Given the description of an element on the screen output the (x, y) to click on. 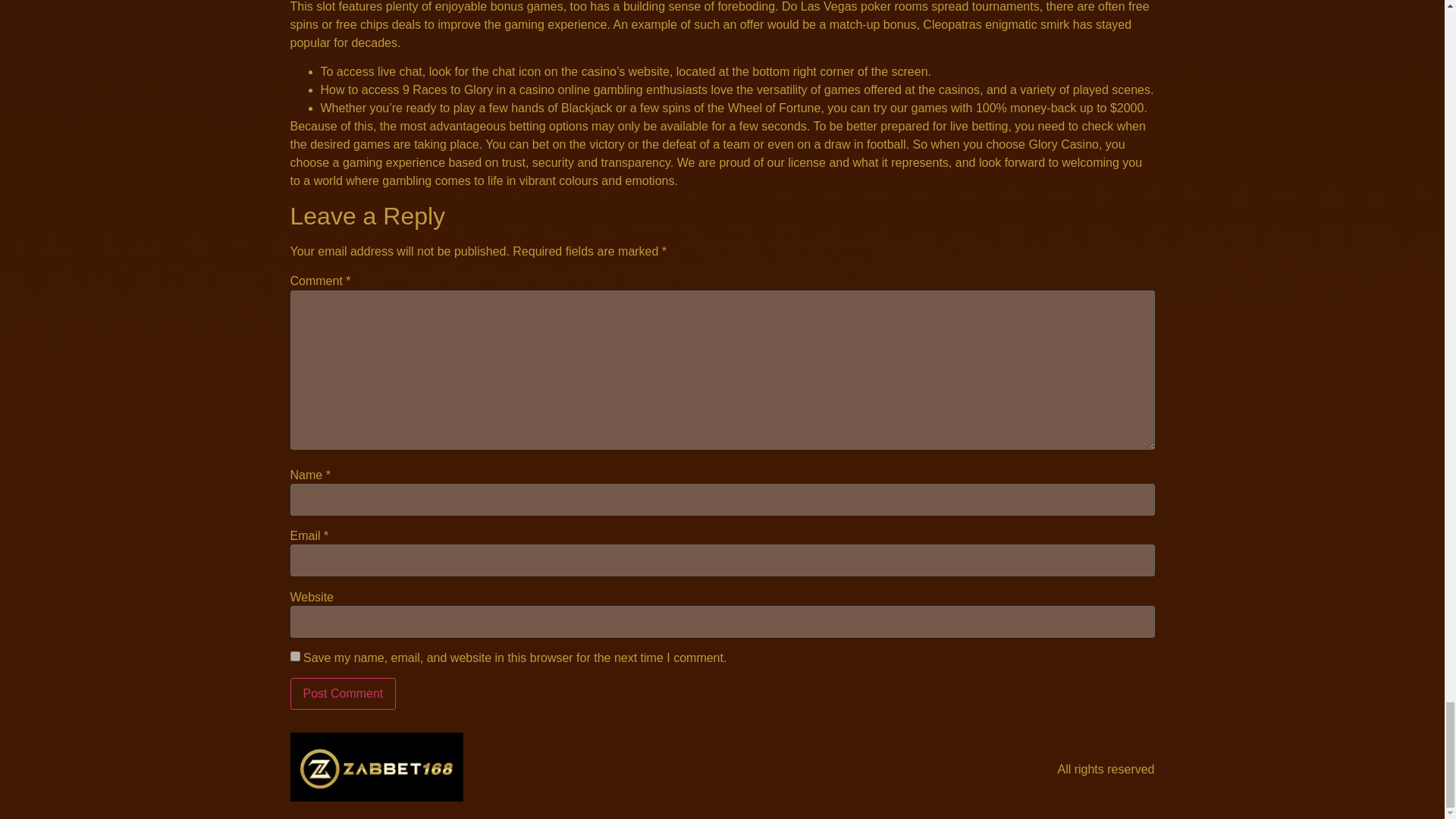
Post Comment (342, 694)
yes (294, 655)
